Given the description of an element on the screen output the (x, y) to click on. 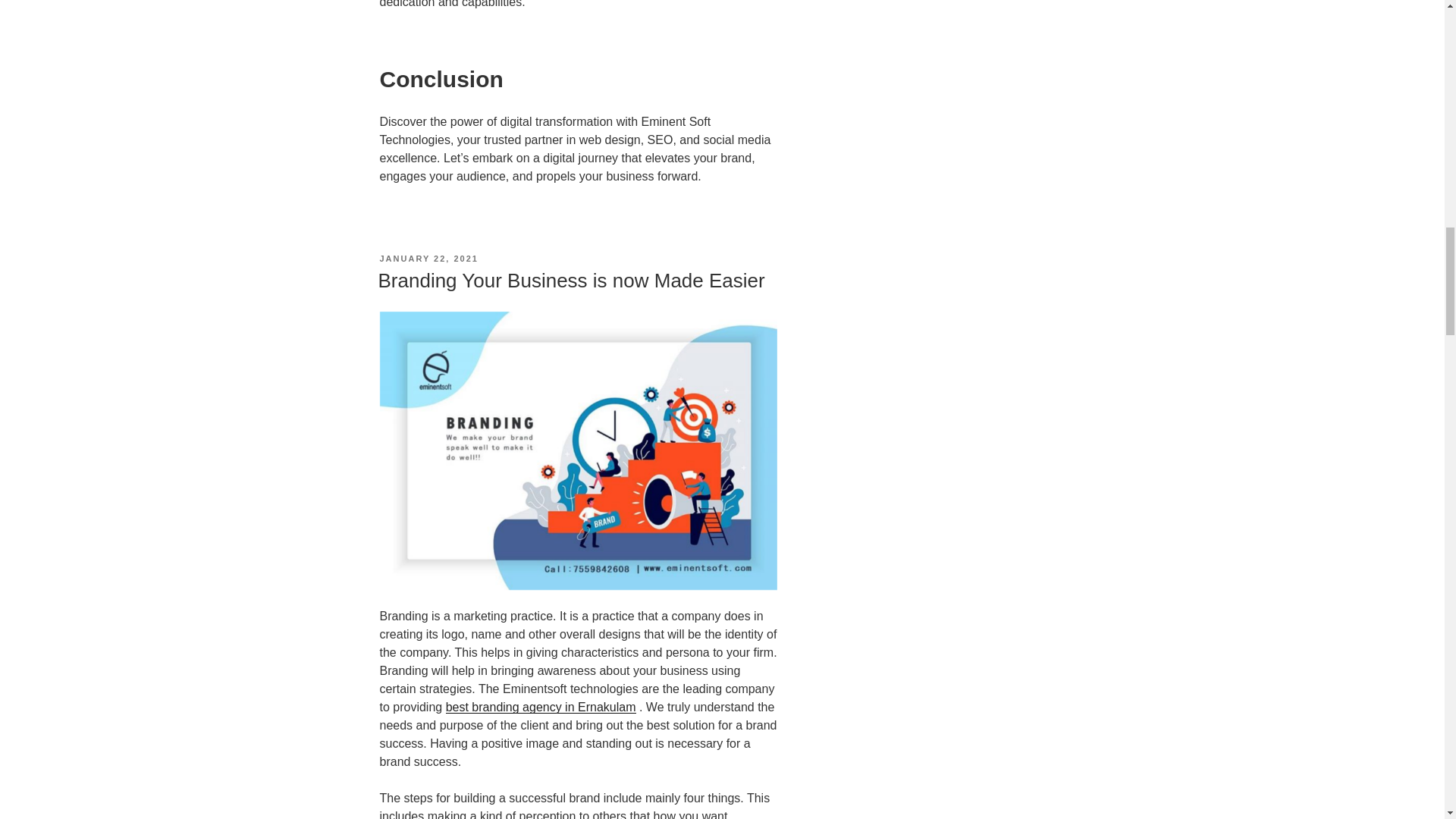
JANUARY 22, 2021 (427, 257)
Branding Your Business is now Made Easier (570, 280)
best branding agency in Ernakulam (540, 707)
